Given the description of an element on the screen output the (x, y) to click on. 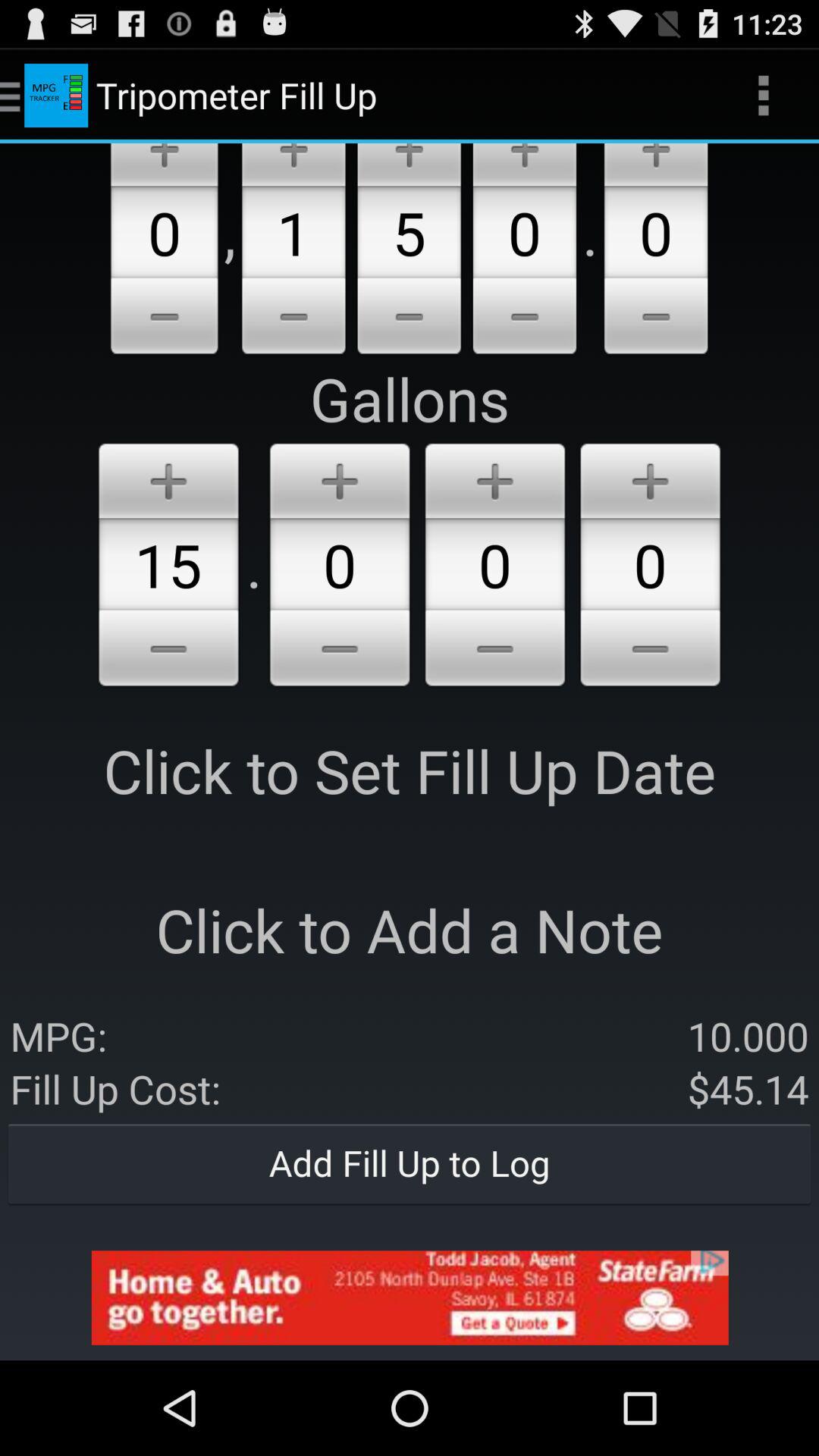
click to the fill up date gallon plus (168, 478)
